Given the description of an element on the screen output the (x, y) to click on. 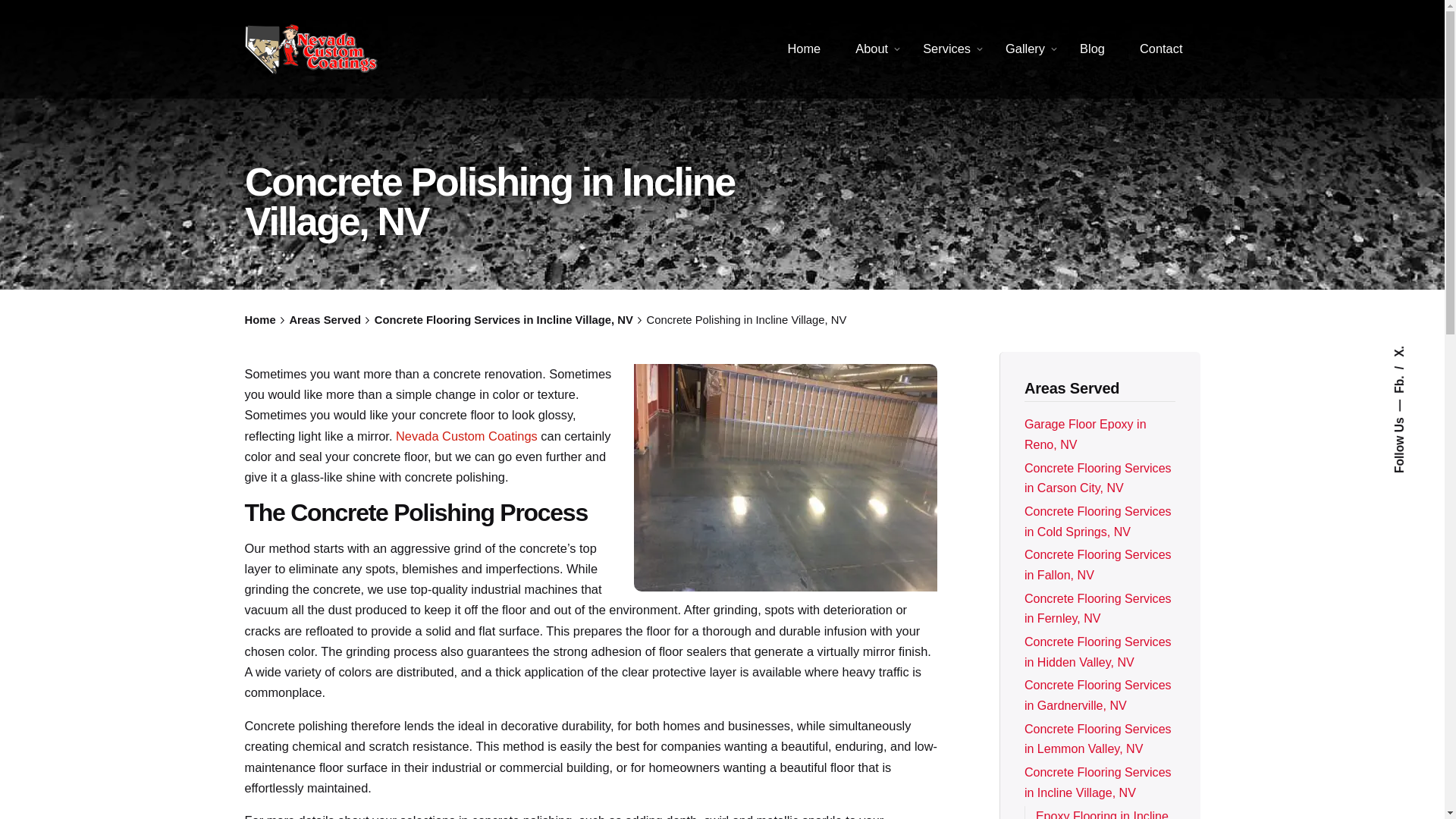
Home (804, 49)
Services (946, 49)
Fb. (1403, 378)
About (871, 49)
Gallery (1025, 49)
Blog (1092, 49)
Contact (1160, 49)
